Given the description of an element on the screen output the (x, y) to click on. 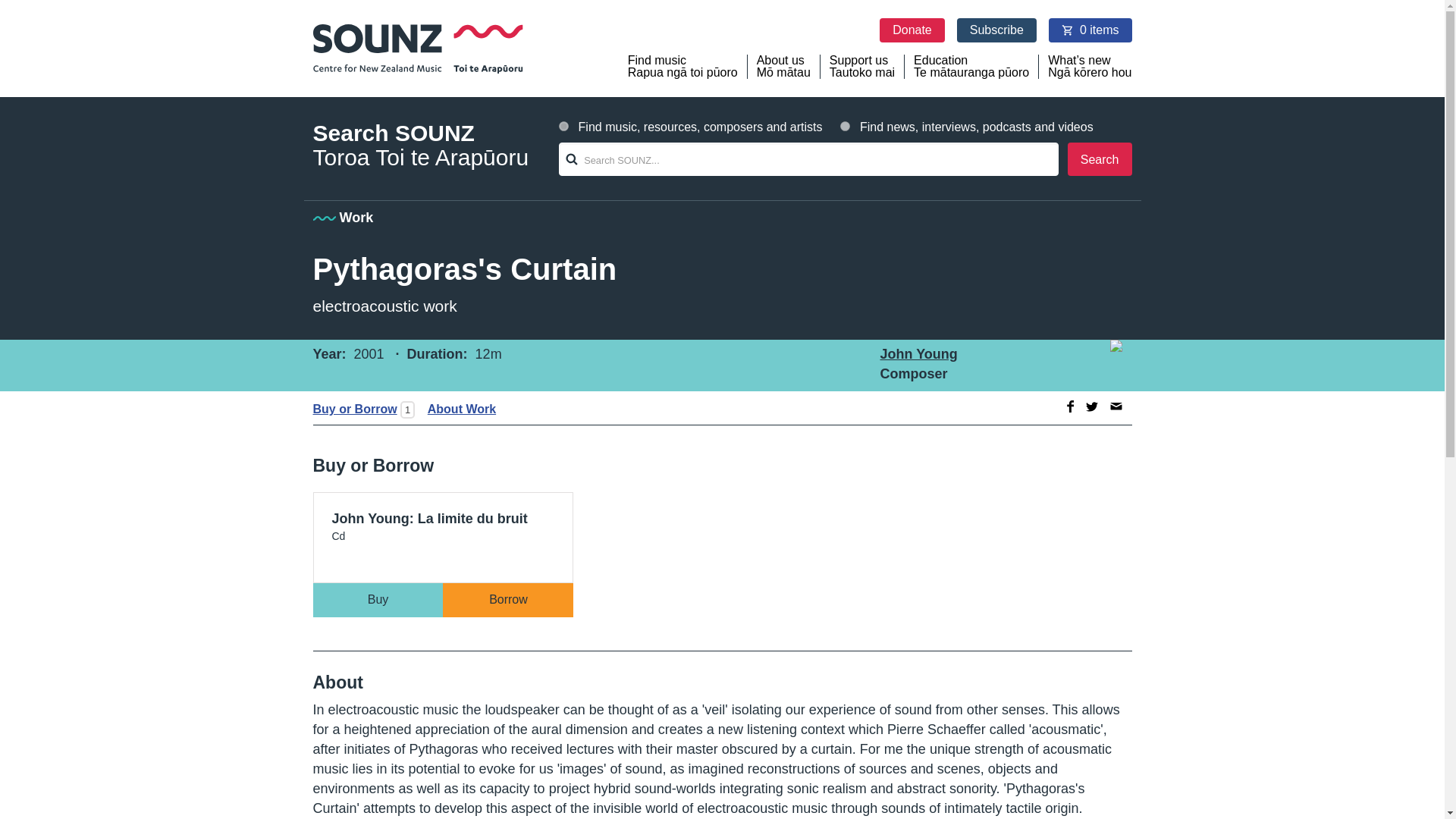
Buy (377, 600)
Subscribe (996, 30)
Borrow (507, 600)
0 items (1090, 30)
Buy or Borrow (354, 408)
catalogue (564, 126)
Share to Facebook (1067, 406)
John Young (862, 66)
